Given the description of an element on the screen output the (x, y) to click on. 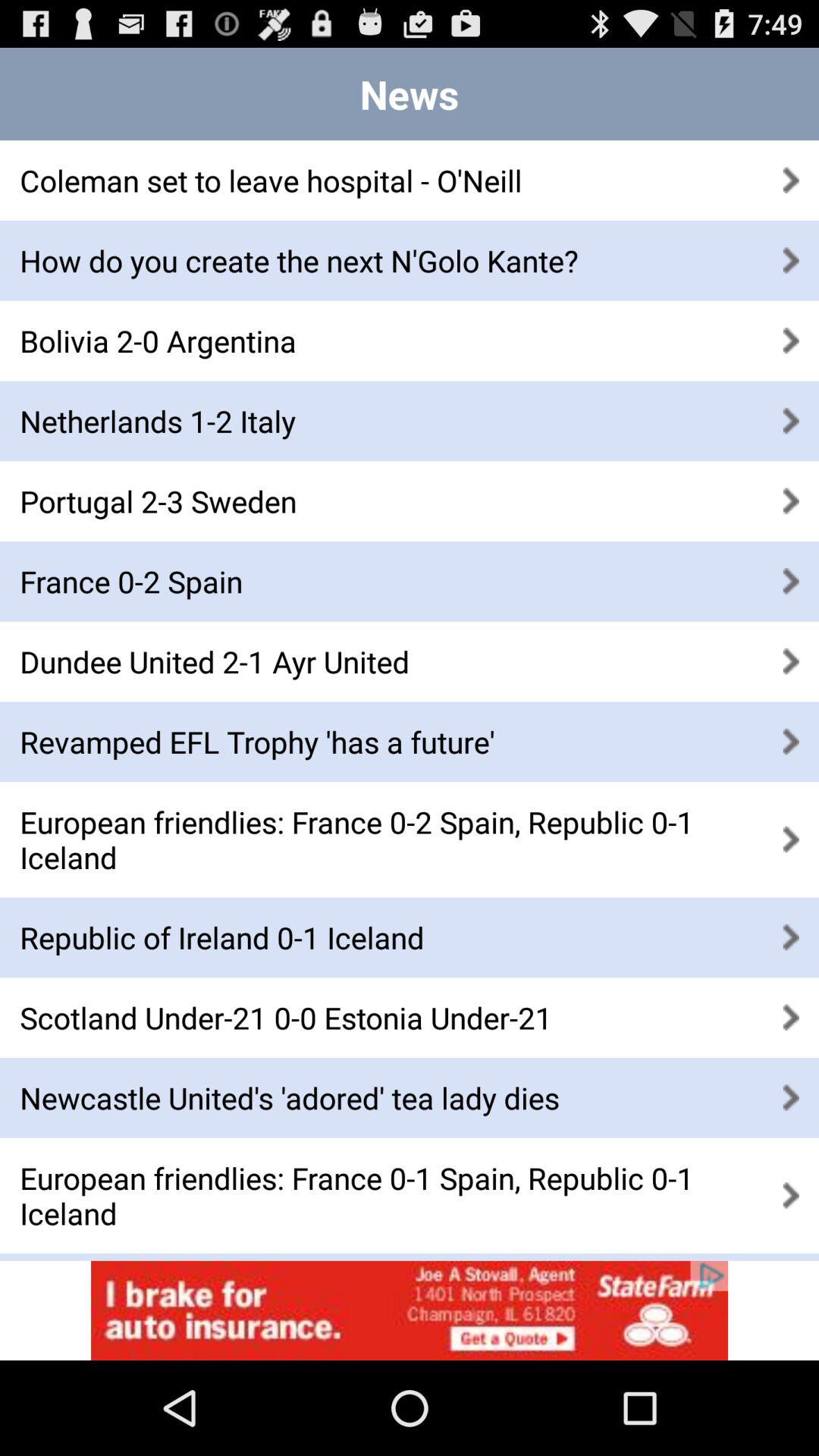
go to advertisement page (409, 1310)
